Given the description of an element on the screen output the (x, y) to click on. 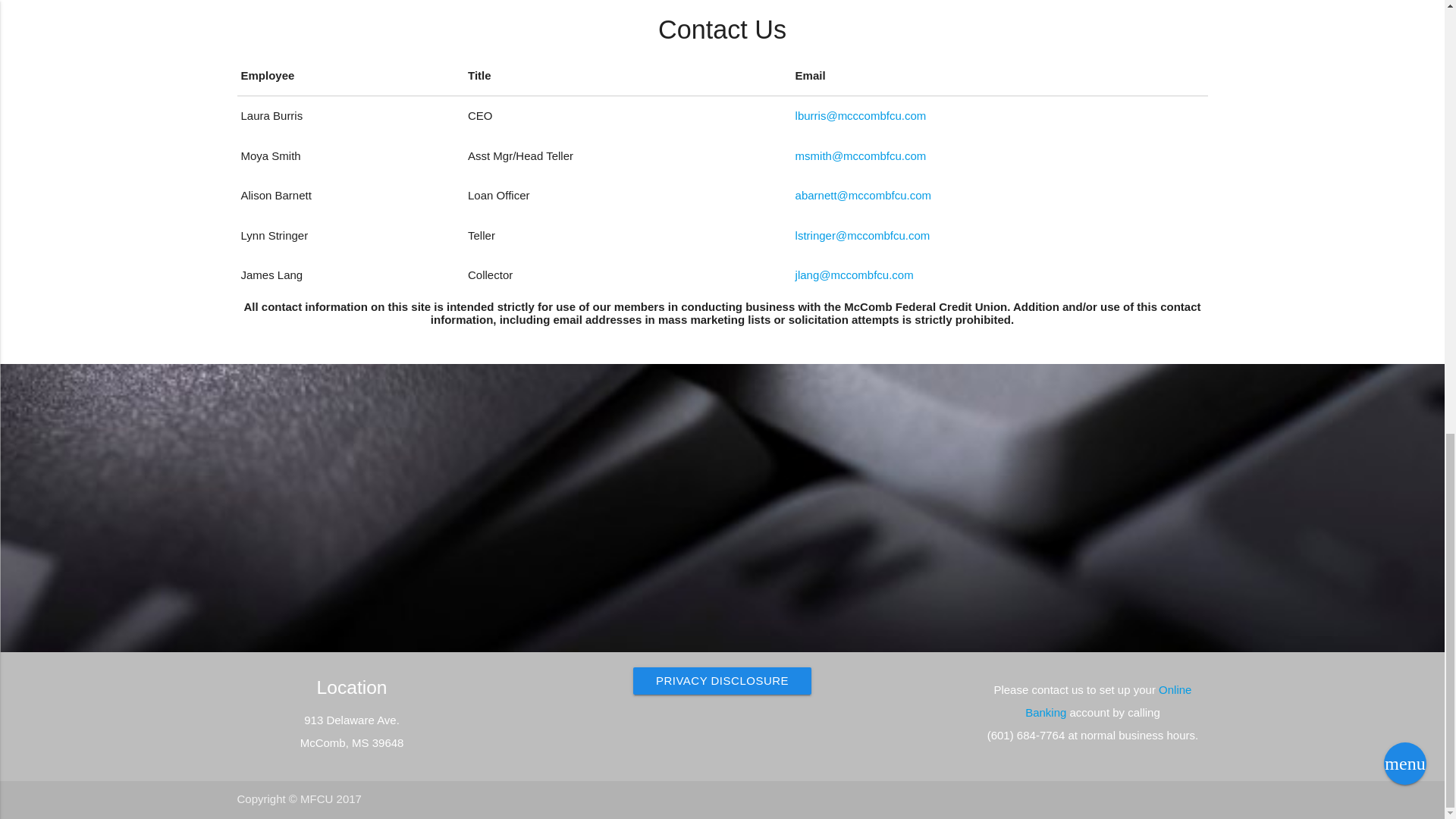
PRIVACY DISCLOSURE (721, 680)
Online Banking (1108, 701)
